Given the description of an element on the screen output the (x, y) to click on. 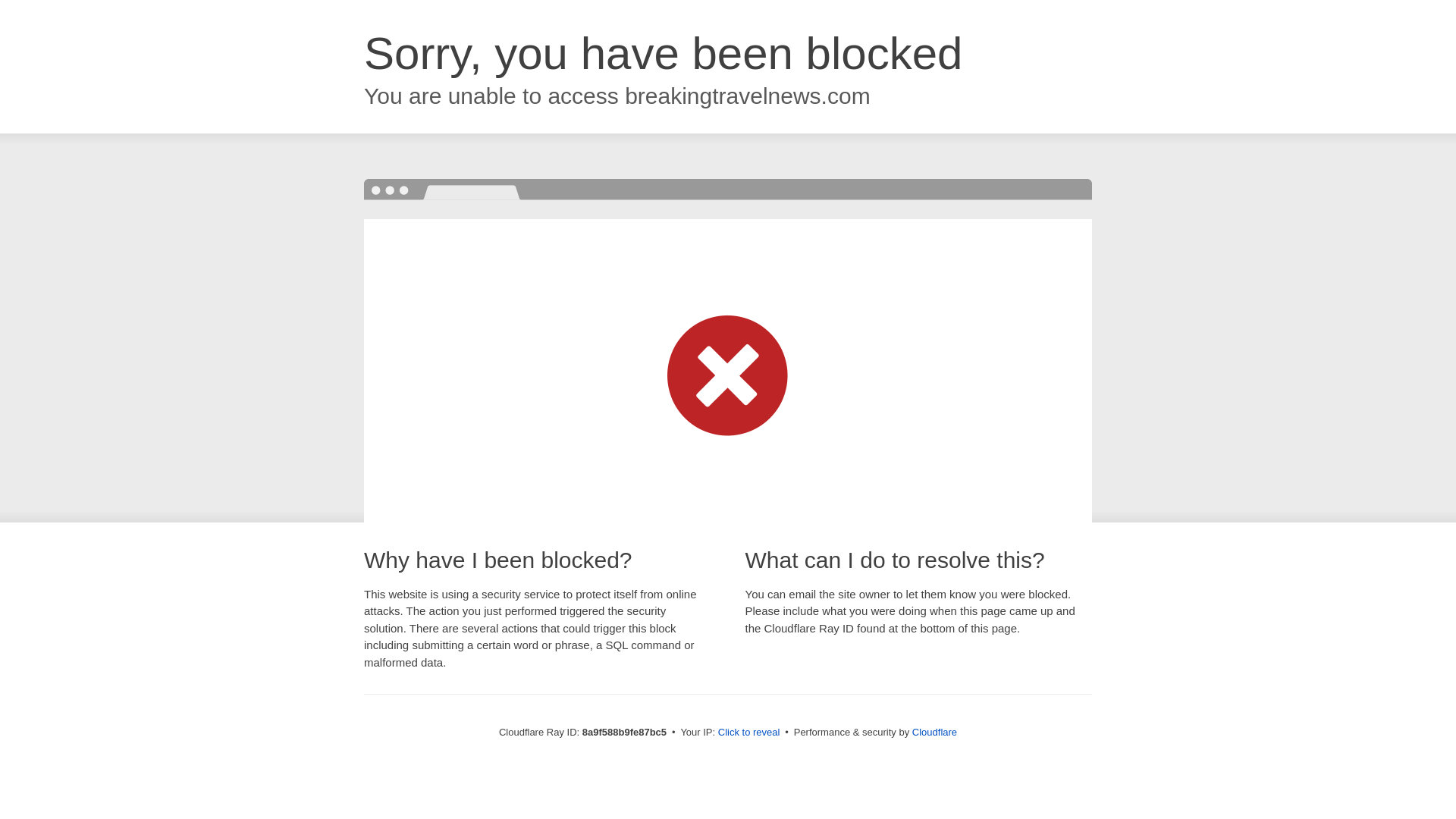
Cloudflare (934, 731)
Click to reveal (748, 732)
